Given the description of an element on the screen output the (x, y) to click on. 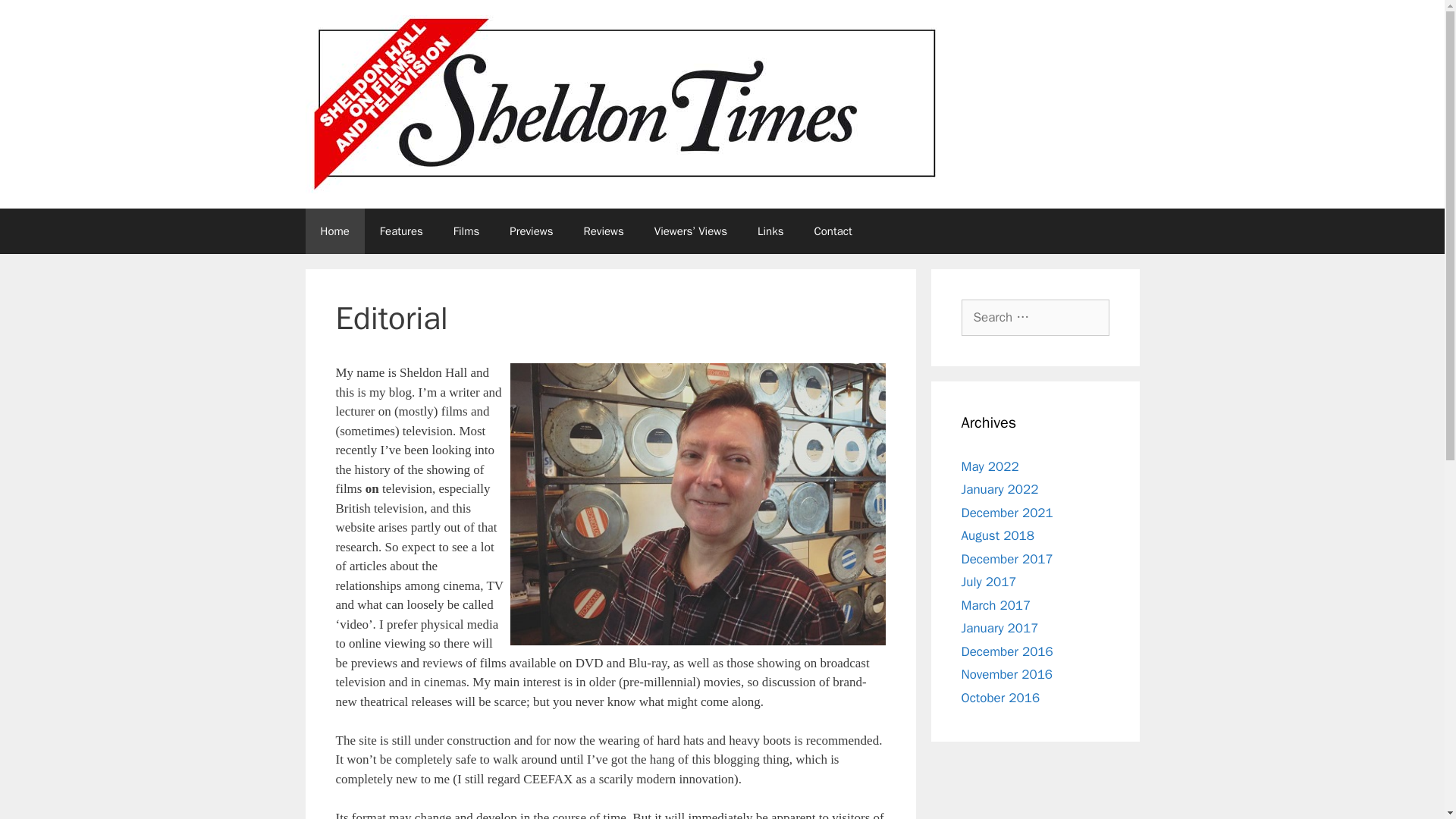
Features (401, 230)
July 2017 (988, 581)
August 2018 (996, 535)
Reviews (603, 230)
Previews (531, 230)
November 2016 (1006, 674)
Home (334, 230)
October 2016 (1000, 697)
January 2017 (999, 627)
May 2022 (989, 465)
Contact (831, 230)
March 2017 (995, 605)
Links (769, 230)
January 2022 (999, 489)
December 2016 (1006, 650)
